Given the description of an element on the screen output the (x, y) to click on. 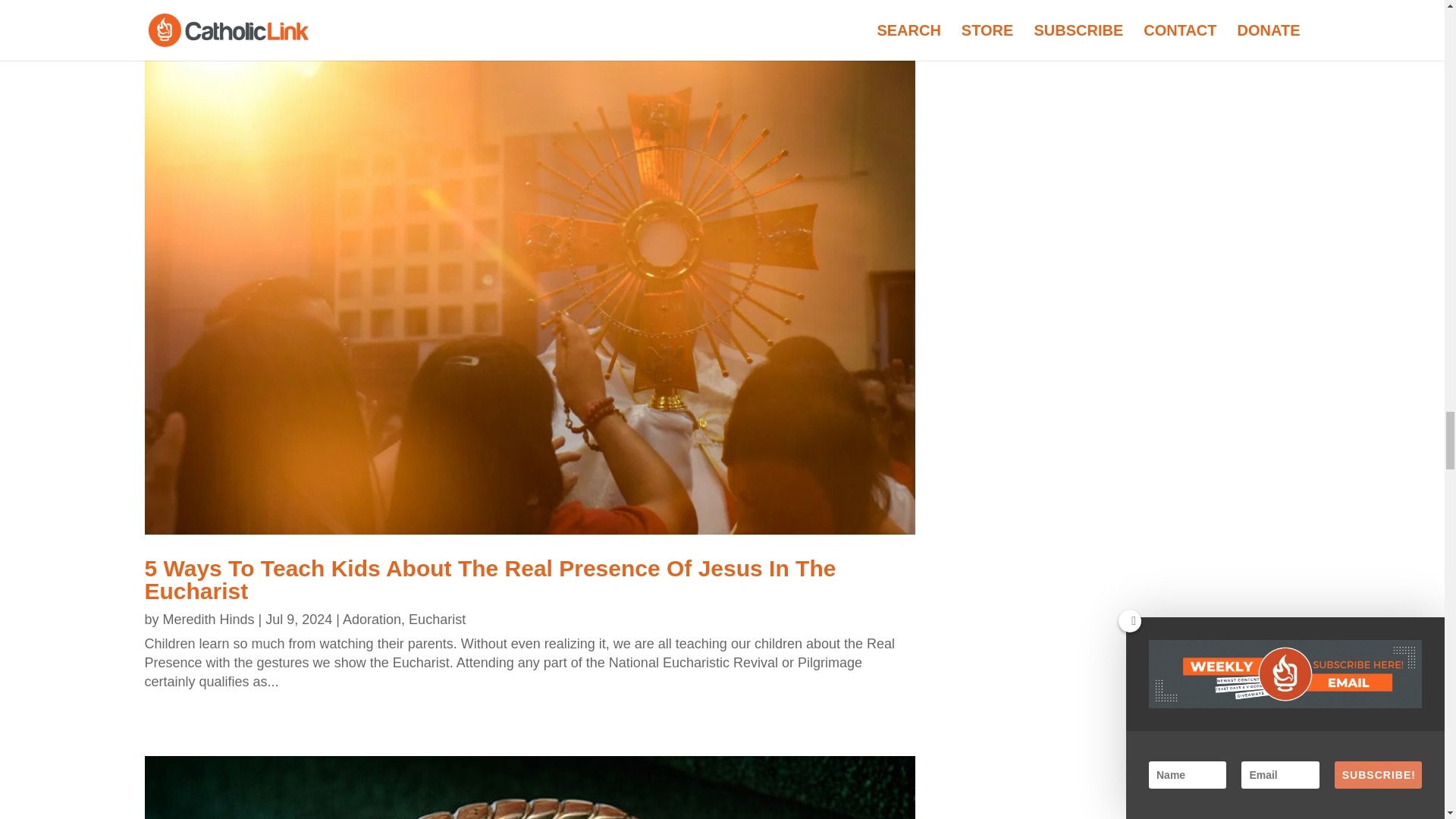
Posts by Meredith Hinds (208, 619)
